Given the description of an element on the screen output the (x, y) to click on. 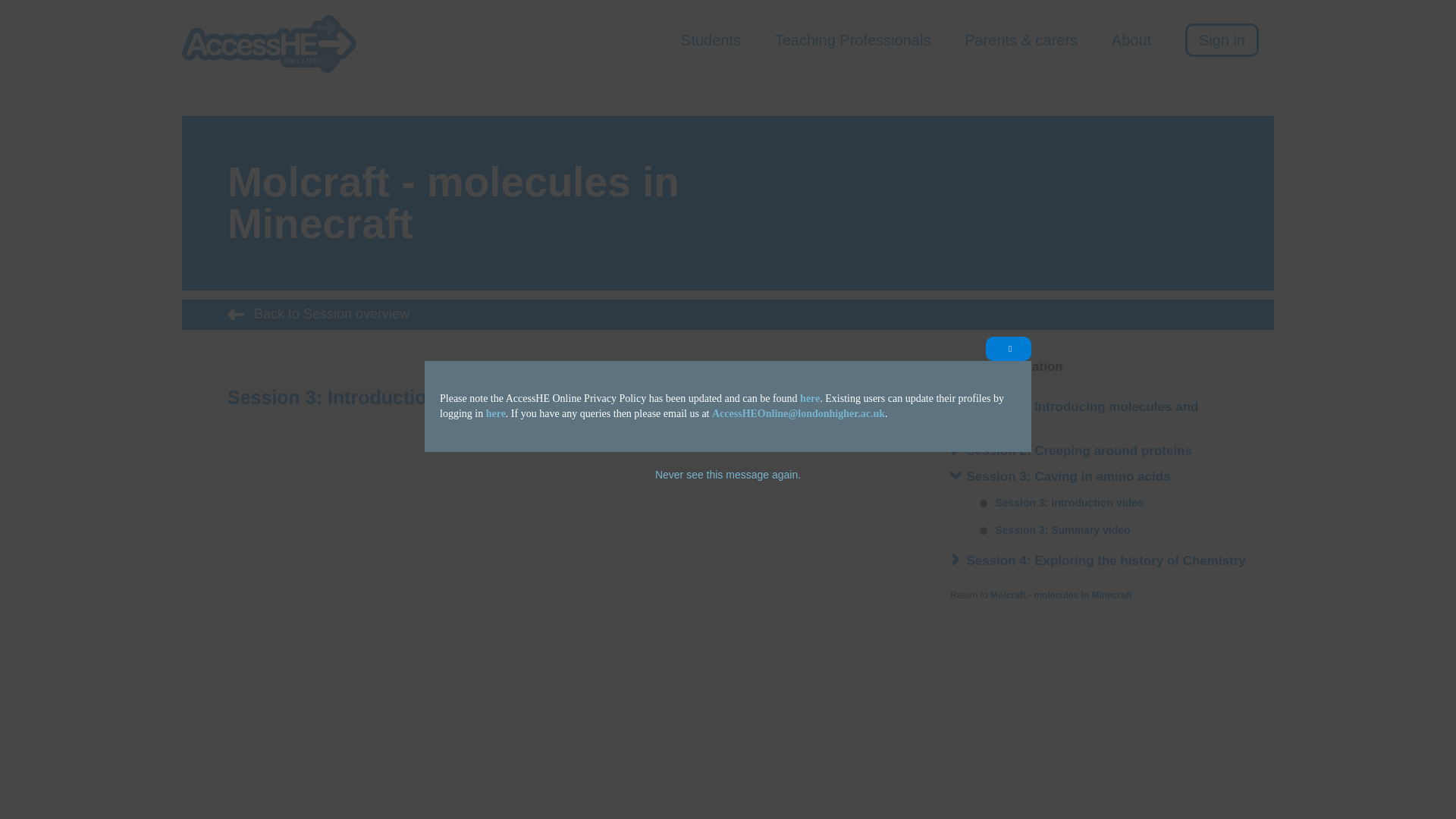
Sign in (1222, 39)
Session 3: Introduction video (840, 396)
Session 3: Caving in amino acids (1068, 476)
About (1131, 41)
Session 3: Summary video (1052, 529)
Teaching Professionals (852, 41)
Session 4: Exploring the history of Chemistry (1105, 560)
Session 3: Summary video (857, 396)
Session 3: Introduction video (1058, 502)
Session 3: Introduction video (1058, 502)
Back to Session overview (728, 314)
Session 2: Creeping around proteins (1079, 450)
Session 3: Summary video (1052, 529)
Session 1: Introducing molecules and Minecraft (1082, 415)
Students (711, 41)
